Given the description of an element on the screen output the (x, y) to click on. 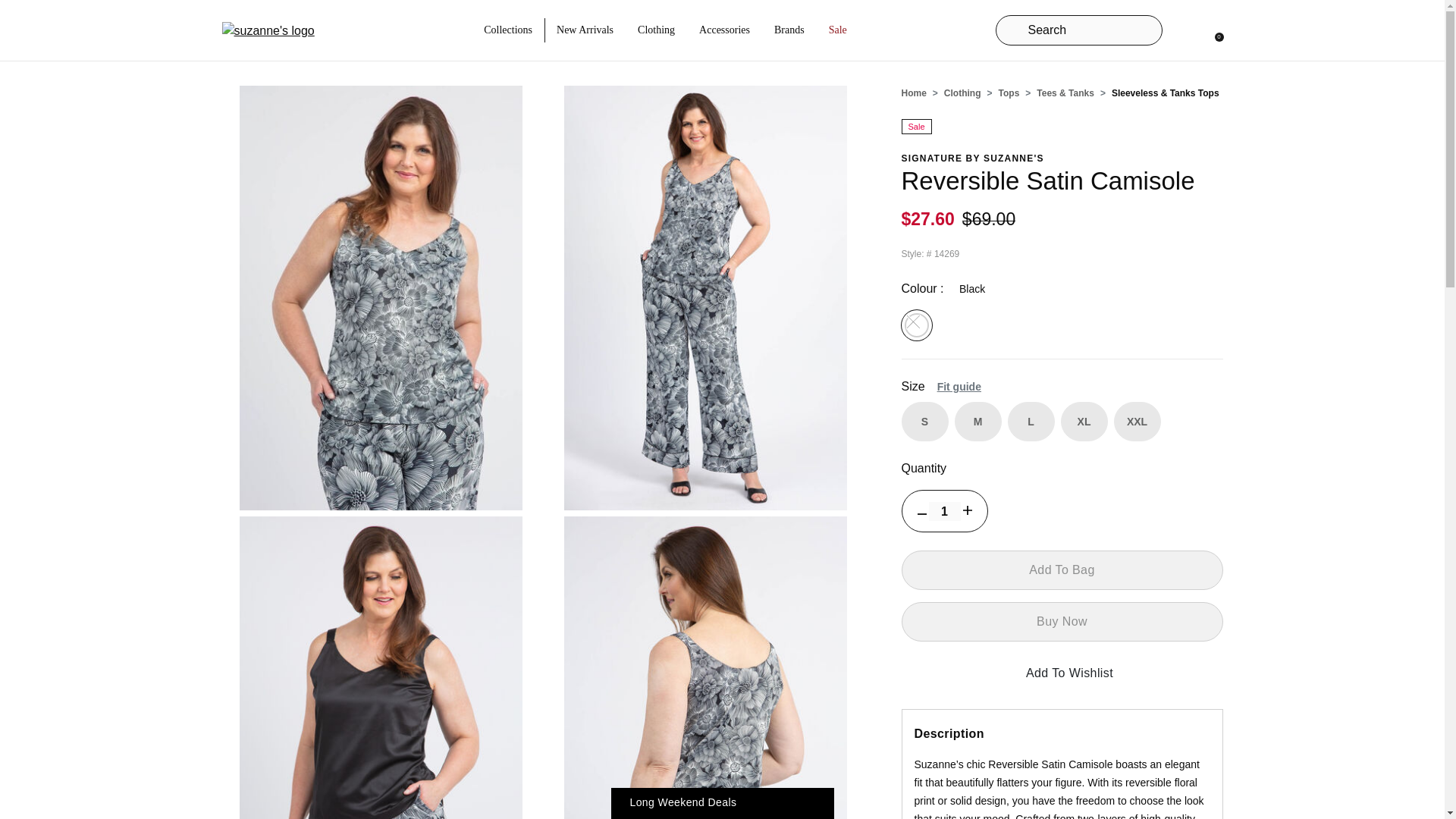
Collections (507, 30)
Reversible Satin Camisole (705, 667)
Reversible Satin Camisole (380, 667)
Commerce Cloud Storefront Reference Architecture Home (267, 30)
suzanne's logo (267, 30)
1 (943, 511)
